Given the description of an element on the screen output the (x, y) to click on. 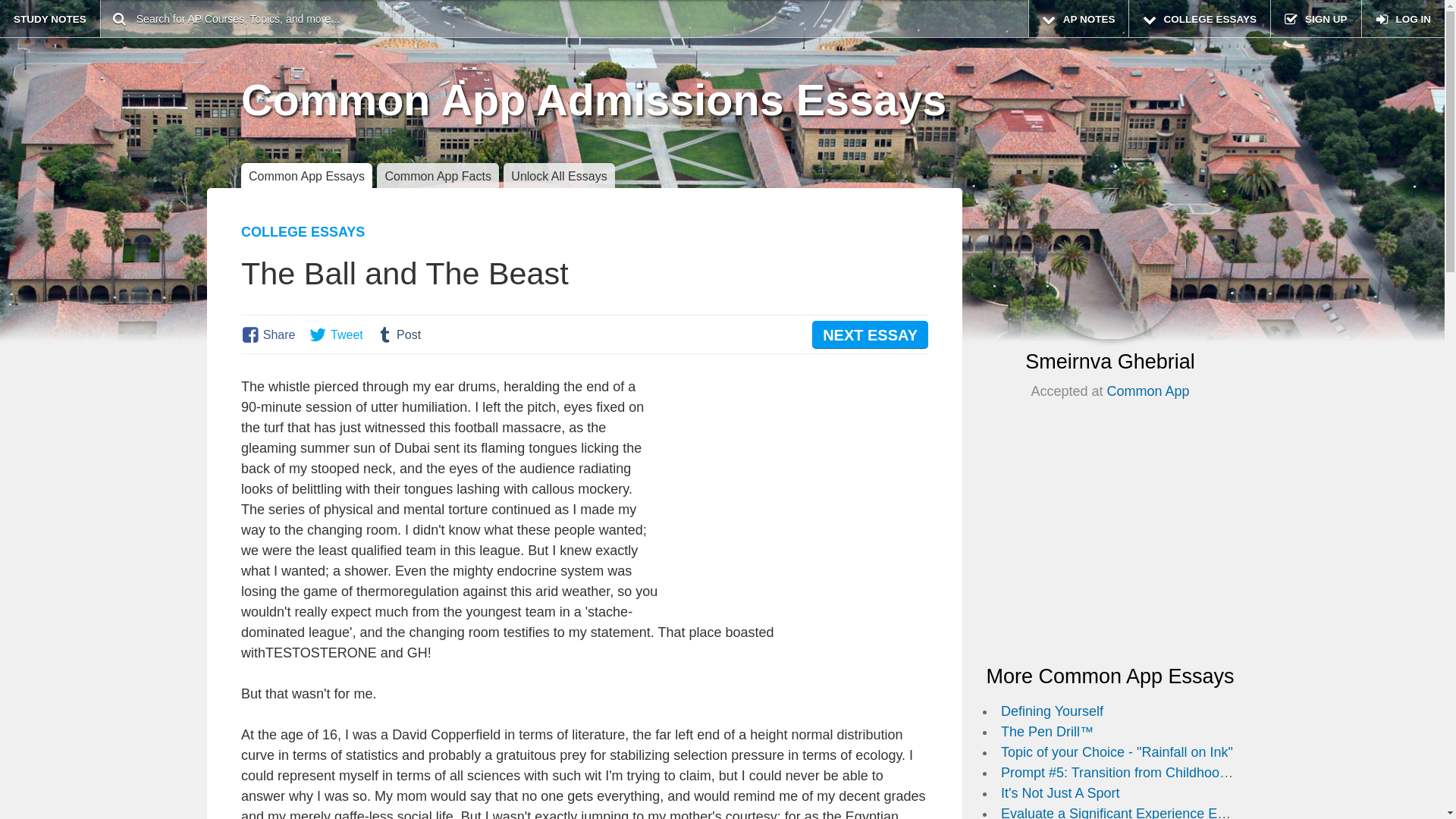
Browse all admissions essays (1198, 18)
COLLEGE ESSAYS (1198, 18)
Go to the front page of StudyNotes (50, 18)
Browse all AP study notes (1078, 18)
Create a Study Notes Account (1315, 18)
STUDY NOTES (50, 18)
AP NOTES (1078, 18)
SIGN UP (1315, 18)
